Given the description of an element on the screen output the (x, y) to click on. 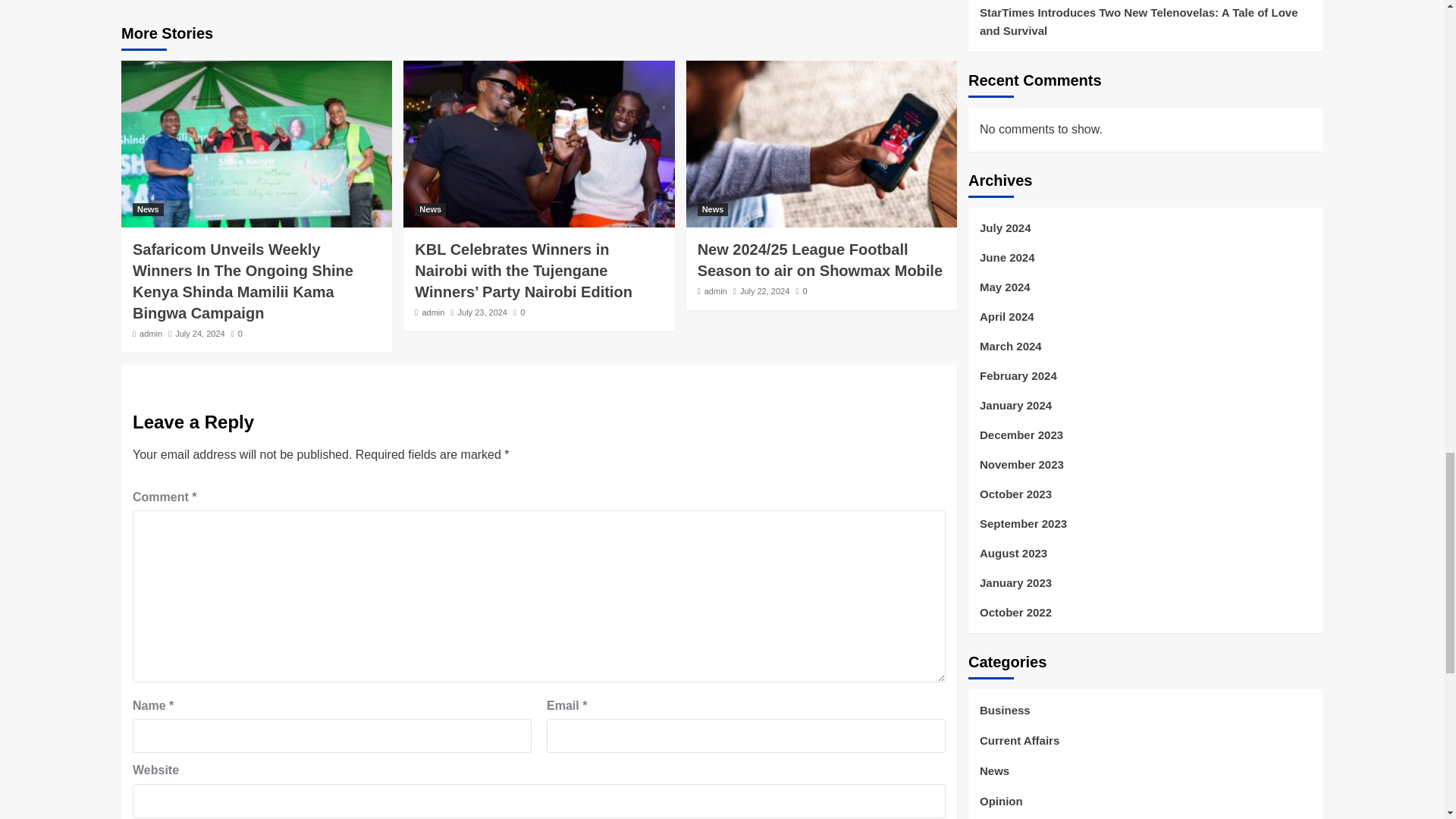
News (713, 209)
July 24, 2024 (199, 333)
July 23, 2024 (482, 311)
admin (715, 290)
0 (800, 290)
0 (518, 311)
News (429, 209)
0 (237, 333)
admin (150, 333)
News (147, 209)
admin (433, 311)
July 22, 2024 (764, 290)
